Given the description of an element on the screen output the (x, y) to click on. 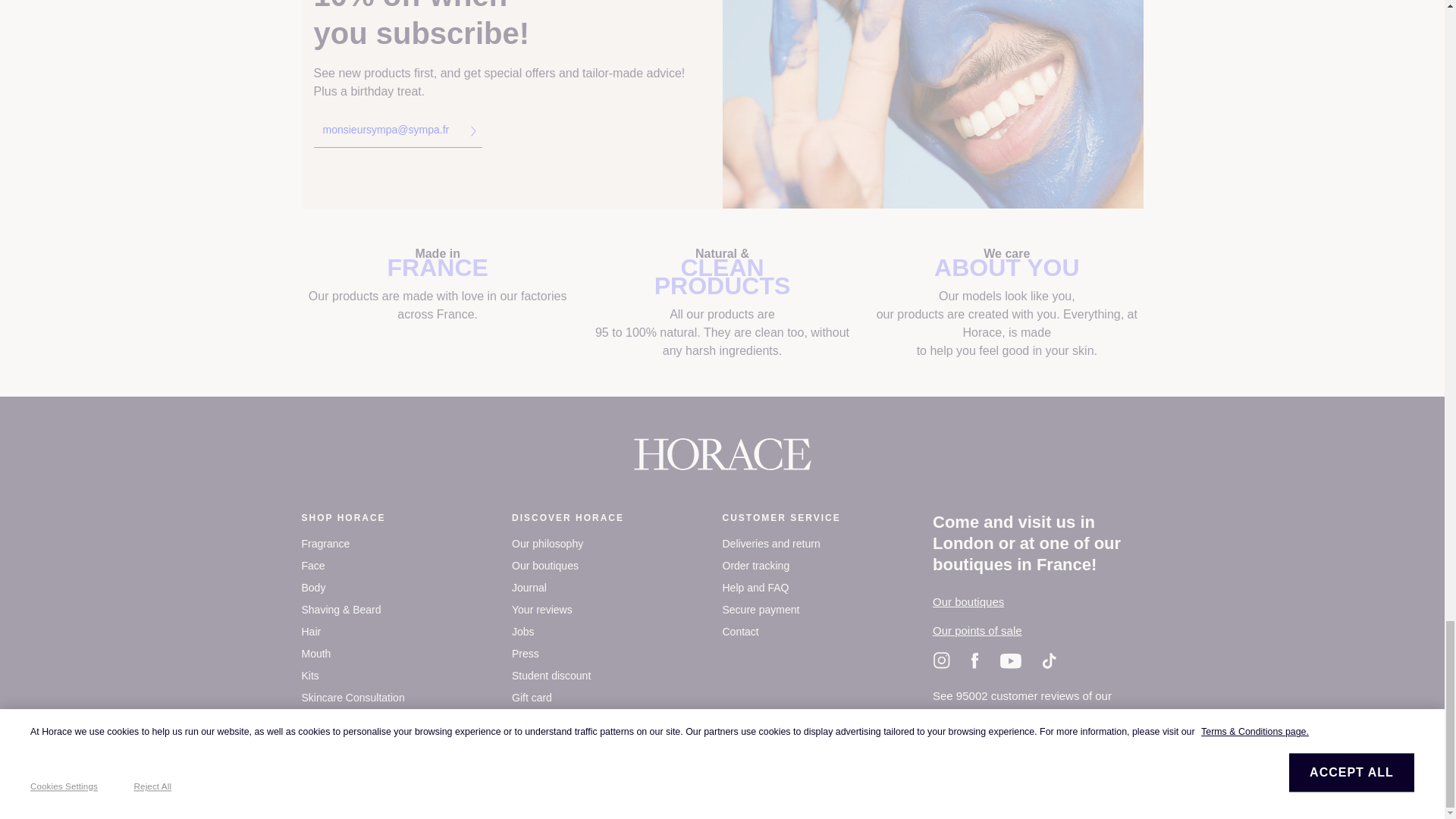
arrow-form (473, 131)
